Given the description of an element on the screen output the (x, y) to click on. 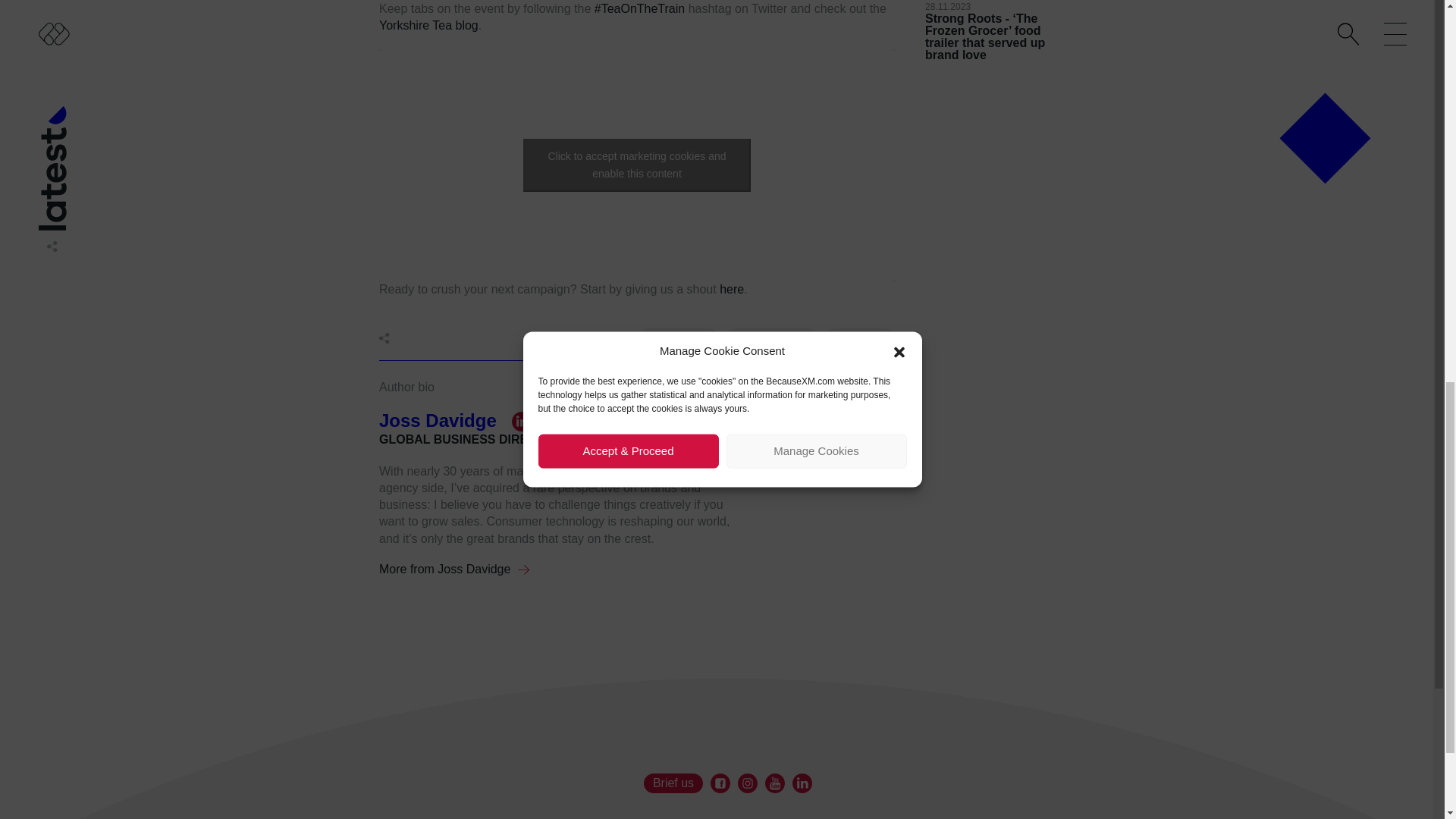
Yorkshire Tea blog (428, 24)
